Given the description of an element on the screen output the (x, y) to click on. 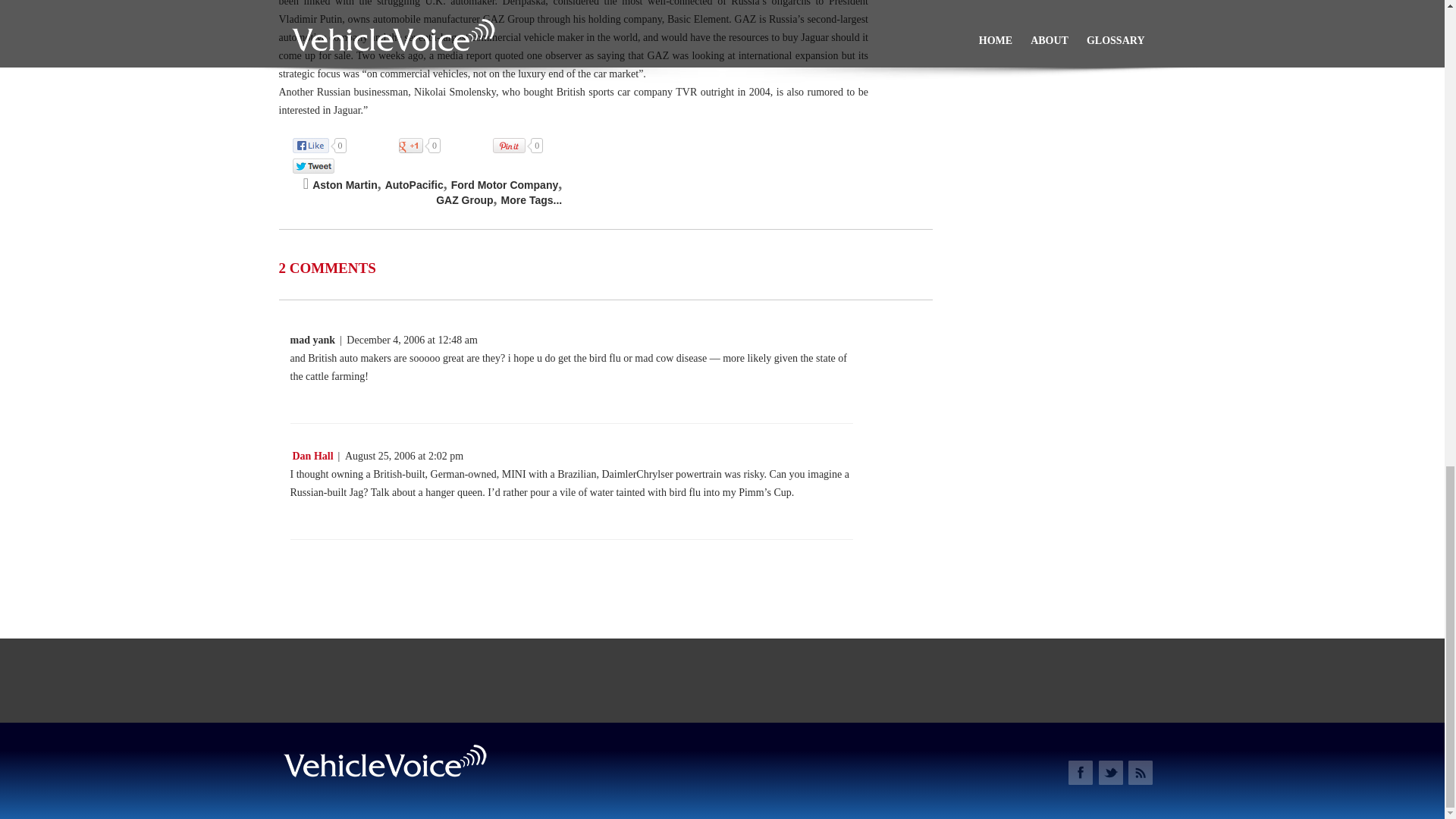
Share link on Twitter (320, 165)
GAZ Group (464, 200)
GAZ Group Tag (464, 200)
AutoPacific Tag (414, 184)
Aston Martin (345, 184)
Dan Hall (311, 456)
Aston Martin Tag (345, 184)
Share image on Pinterest (525, 145)
Share link on Facebook (326, 145)
AutoPacific (414, 184)
Ford Motor Company Tag (505, 184)
Ford Motor Company (505, 184)
More Tags... (531, 200)
